Given the description of an element on the screen output the (x, y) to click on. 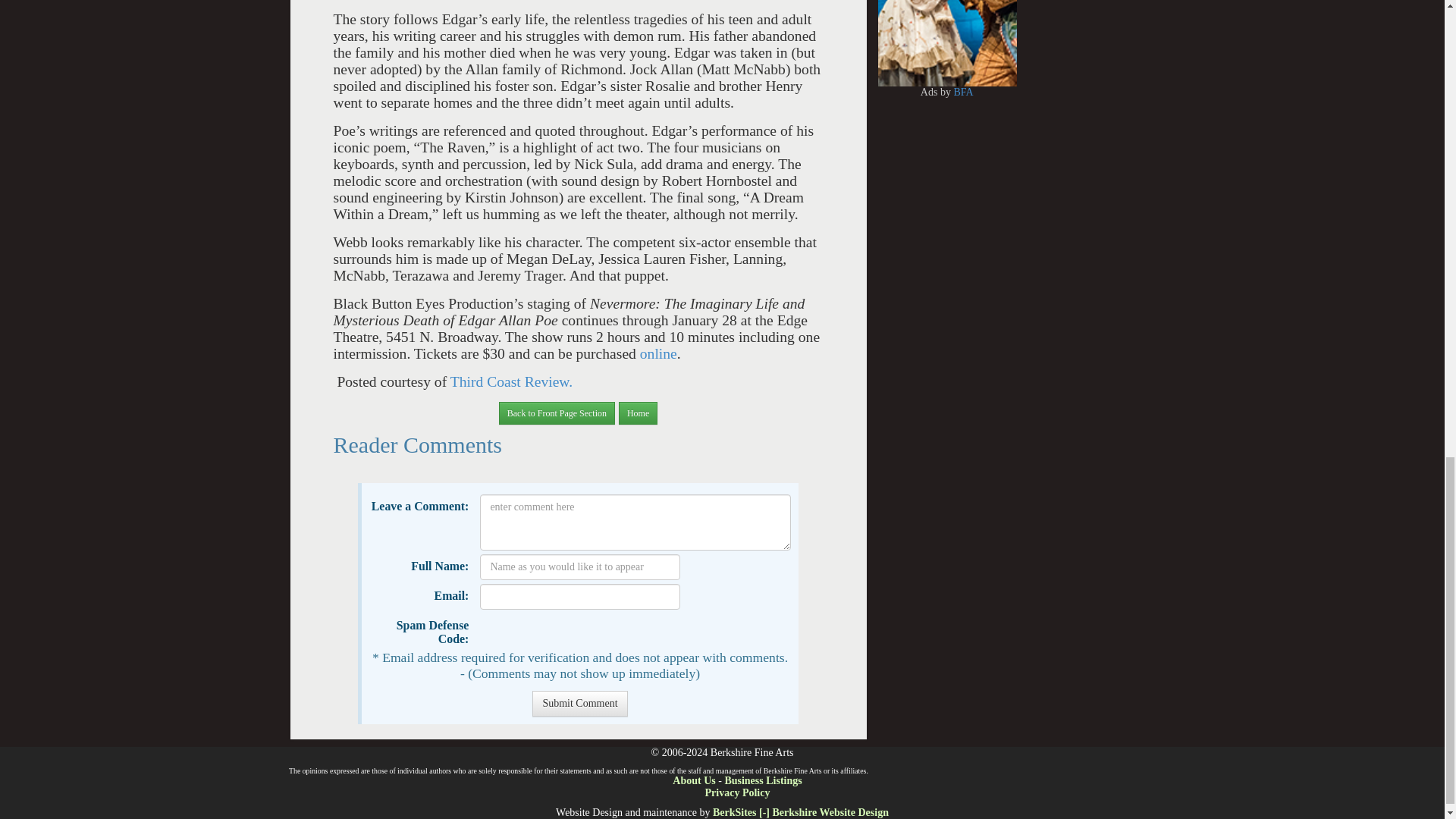
Submit Comment (579, 703)
ad (799, 25)
ad (937, 25)
